Given the description of an element on the screen output the (x, y) to click on. 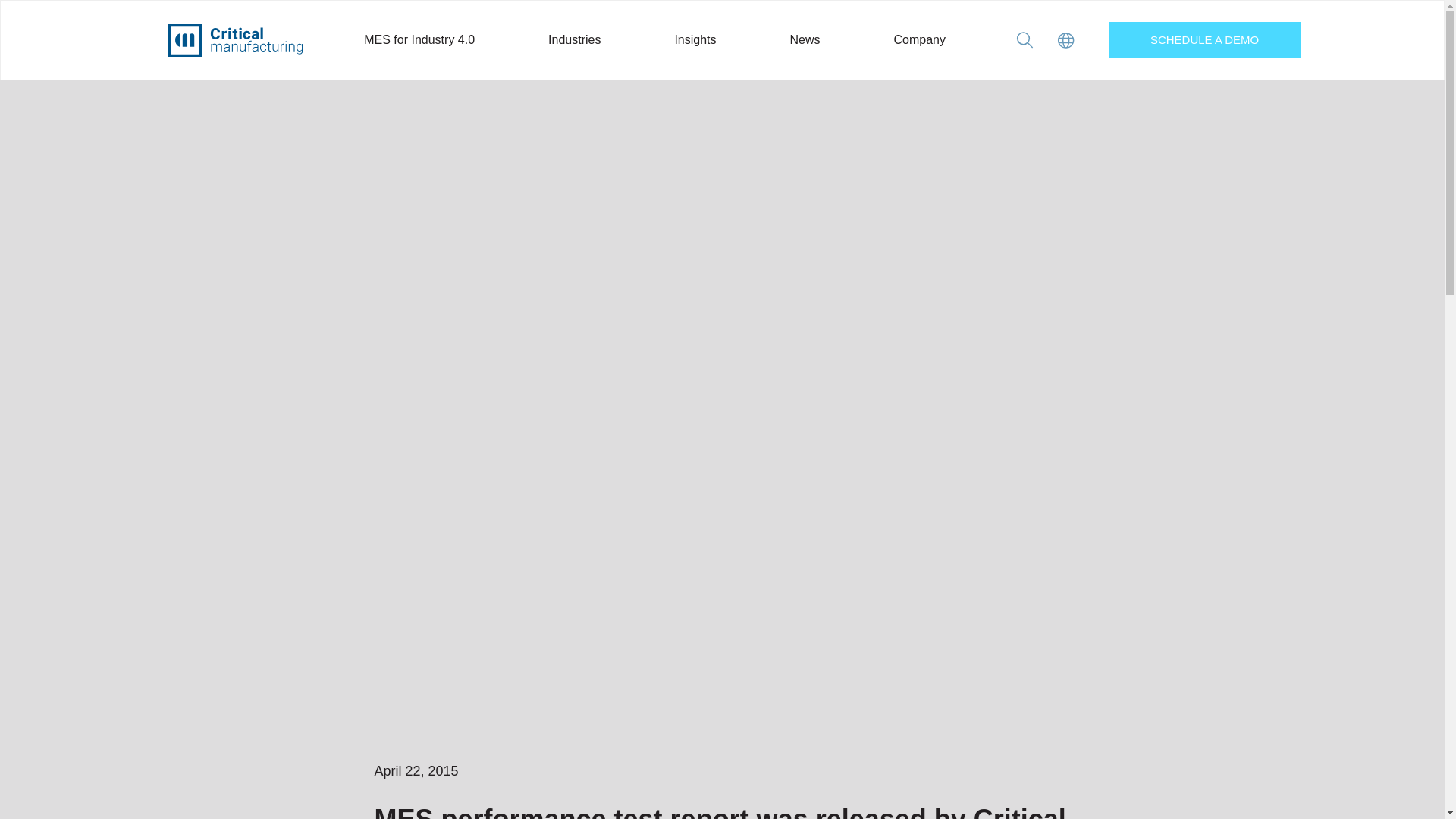
Industries (574, 39)
SCHEDULE A DEMO (1204, 38)
Insights (694, 39)
Critical Manufacturing (235, 38)
Insights (694, 39)
SCHEDULE A DEMO (1204, 40)
Schedule a demo (1204, 38)
News (804, 39)
Company (919, 39)
Industries (574, 39)
